Given the description of an element on the screen output the (x, y) to click on. 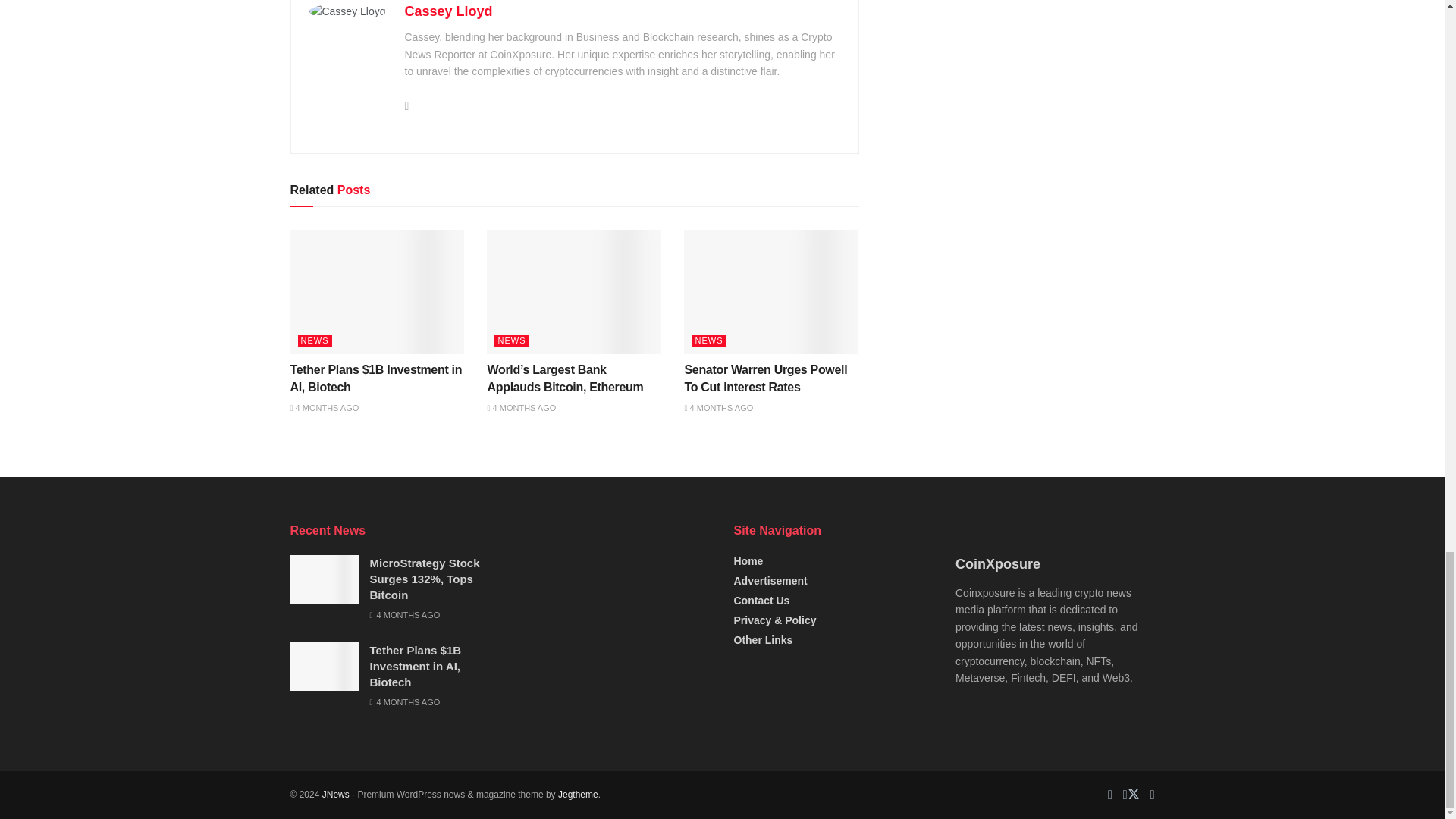
Senator Warren Urges Powell To Cut Interest Rates (771, 317)
World's Largest Bank Applauds Bitcoin, Ethereum (573, 317)
